Given the description of an element on the screen output the (x, y) to click on. 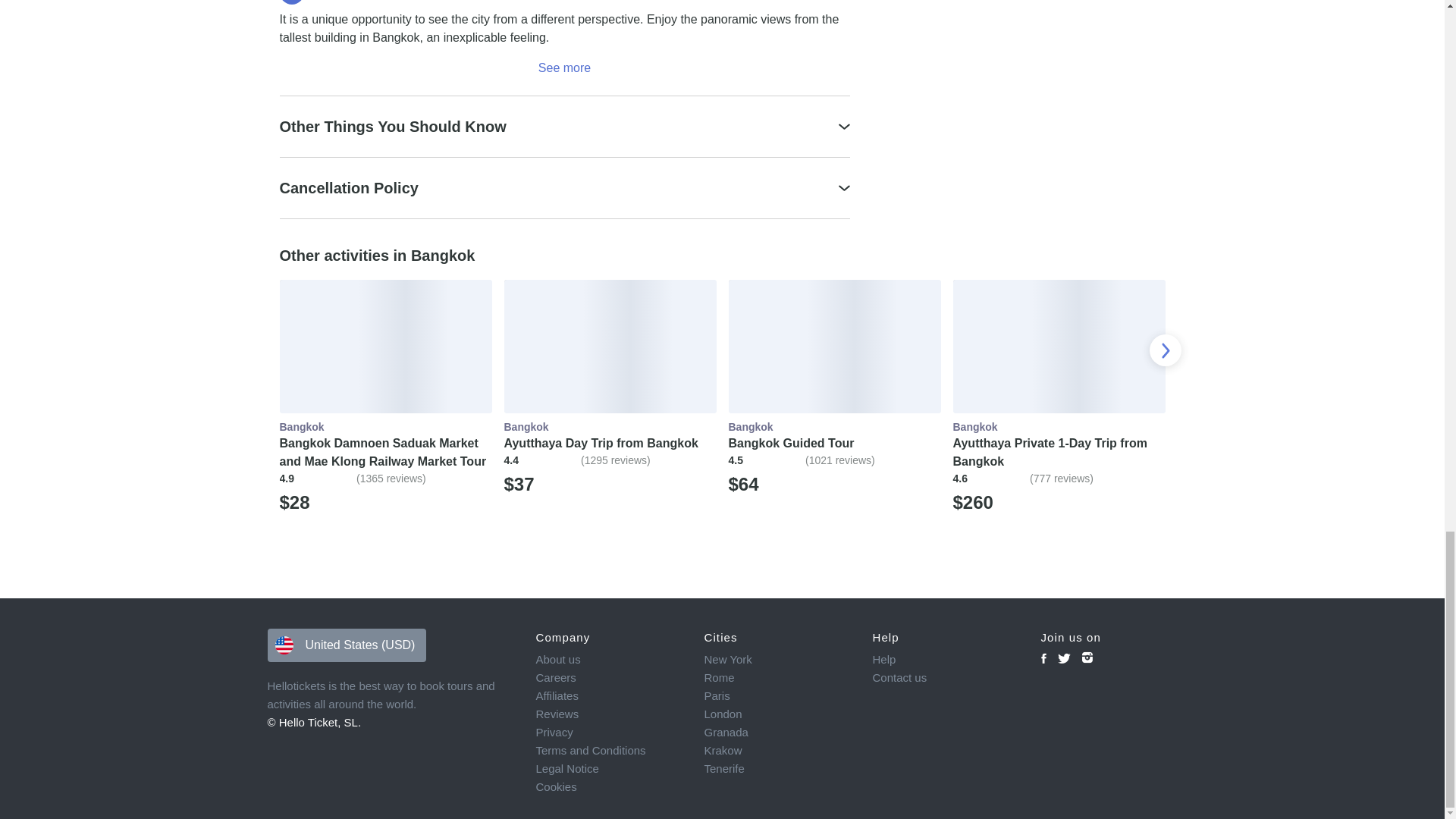
Reviews (608, 714)
Rome (776, 678)
Paris (776, 696)
Affiliates (608, 696)
See more (563, 67)
About us (608, 659)
Careers (608, 678)
New York (776, 659)
Privacy (608, 732)
Legal Notice (608, 769)
Terms and Conditions (608, 751)
Cookies (608, 787)
London (776, 714)
